Given the description of an element on the screen output the (x, y) to click on. 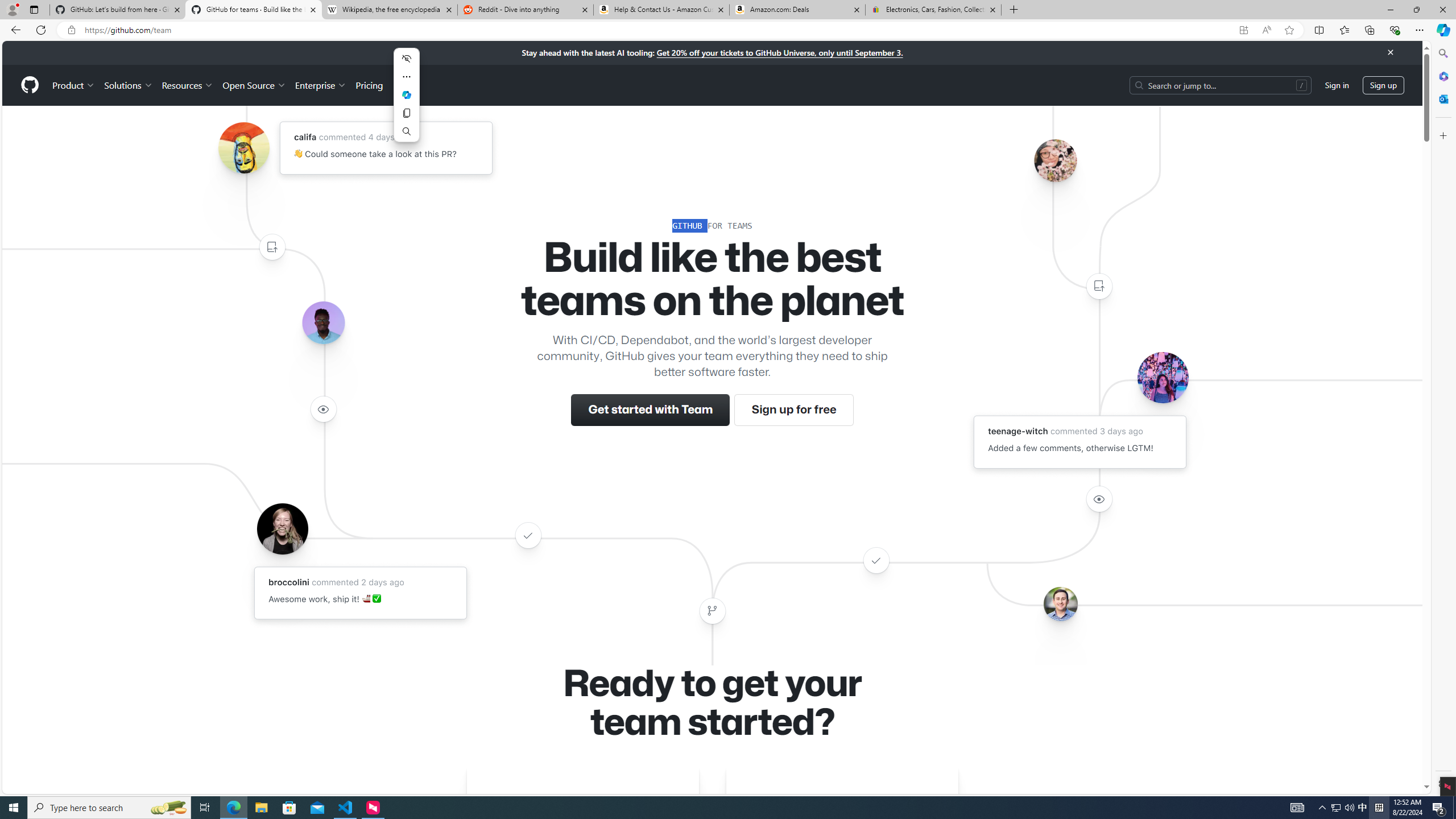
Amazon.com: Deals (797, 9)
Solutions (128, 84)
Help & Contact Us - Amazon Customer Service (660, 9)
Close Outlook pane (1442, 98)
Open Source (254, 84)
Get started with Team (650, 409)
Reddit - Dive into anything (525, 9)
Product (74, 84)
